Given the description of an element on the screen output the (x, y) to click on. 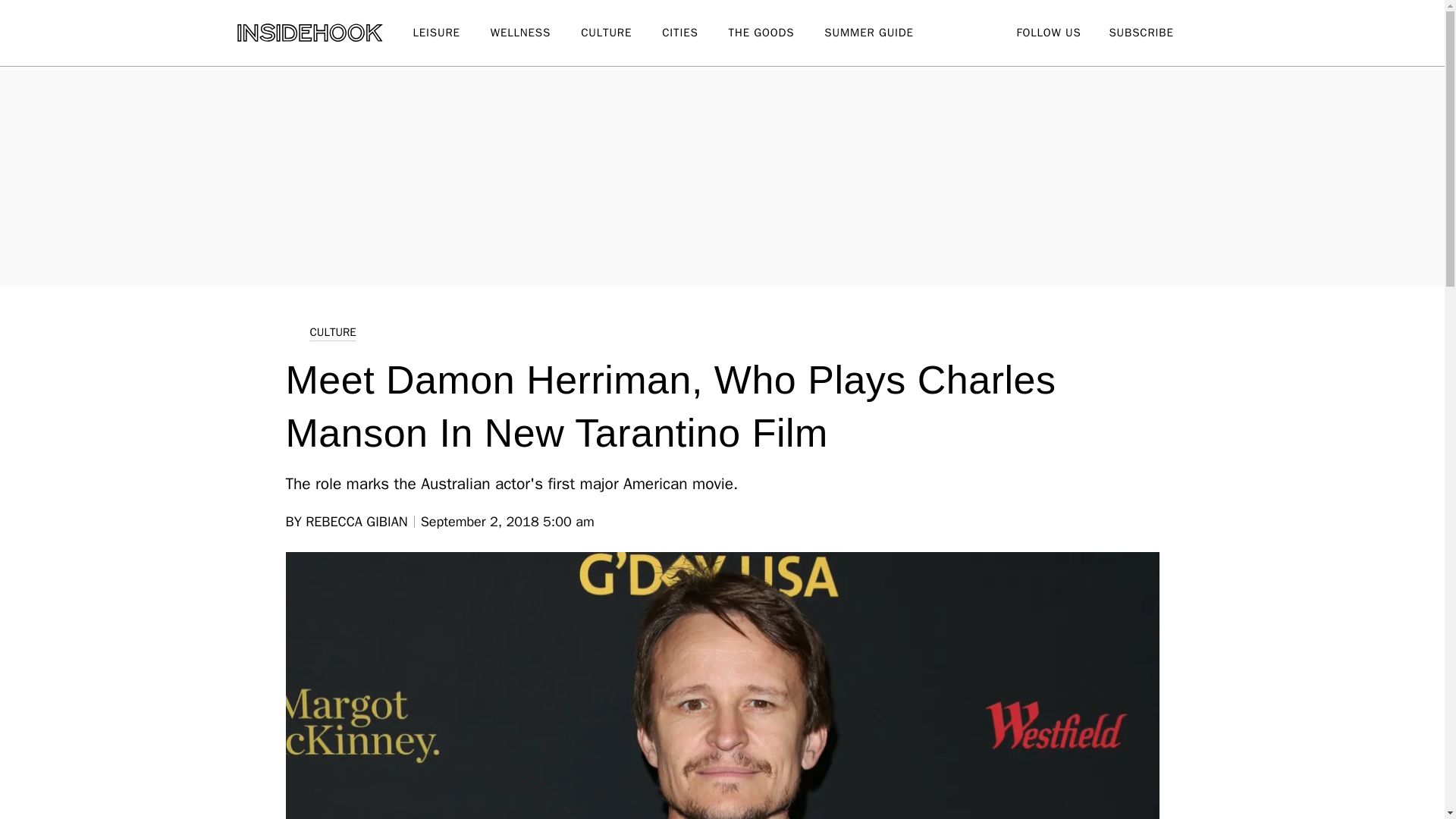
WELLNESS (535, 32)
LEISURE (450, 32)
SUMMER GUIDE (883, 32)
CULTURE (621, 32)
THE GOODS (777, 32)
CITIES (695, 32)
SUBSCRIBE (1140, 32)
FOLLOW US (1048, 32)
